Given the description of an element on the screen output the (x, y) to click on. 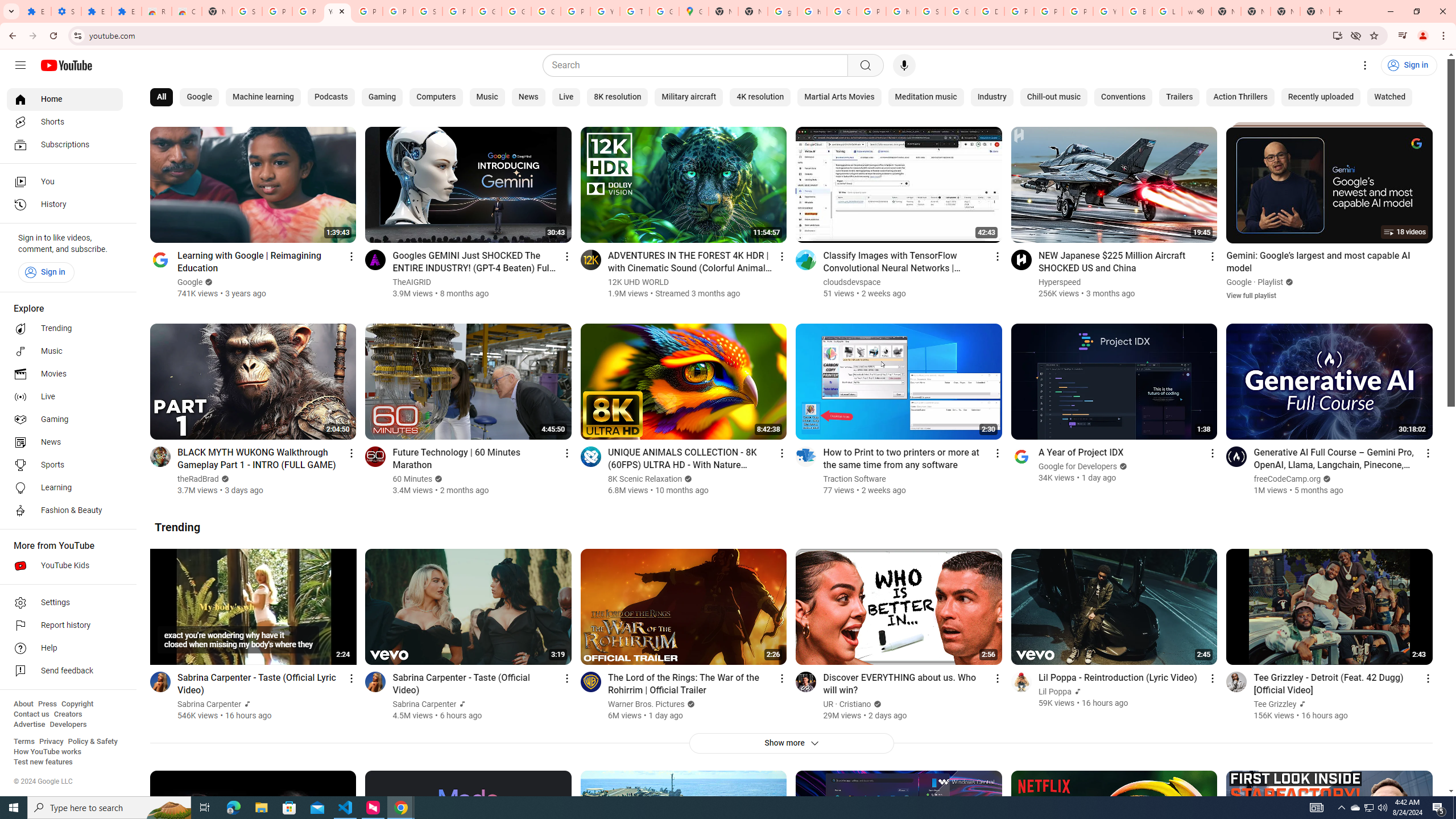
Sign in - Google Accounts (426, 11)
Extensions (126, 11)
Terms (23, 741)
Lil Poppa (1055, 691)
How YouTube works (47, 751)
60 Minutes (413, 478)
Extensions (36, 11)
All (161, 97)
Fashion & Beauty (64, 510)
